Given the description of an element on the screen output the (x, y) to click on. 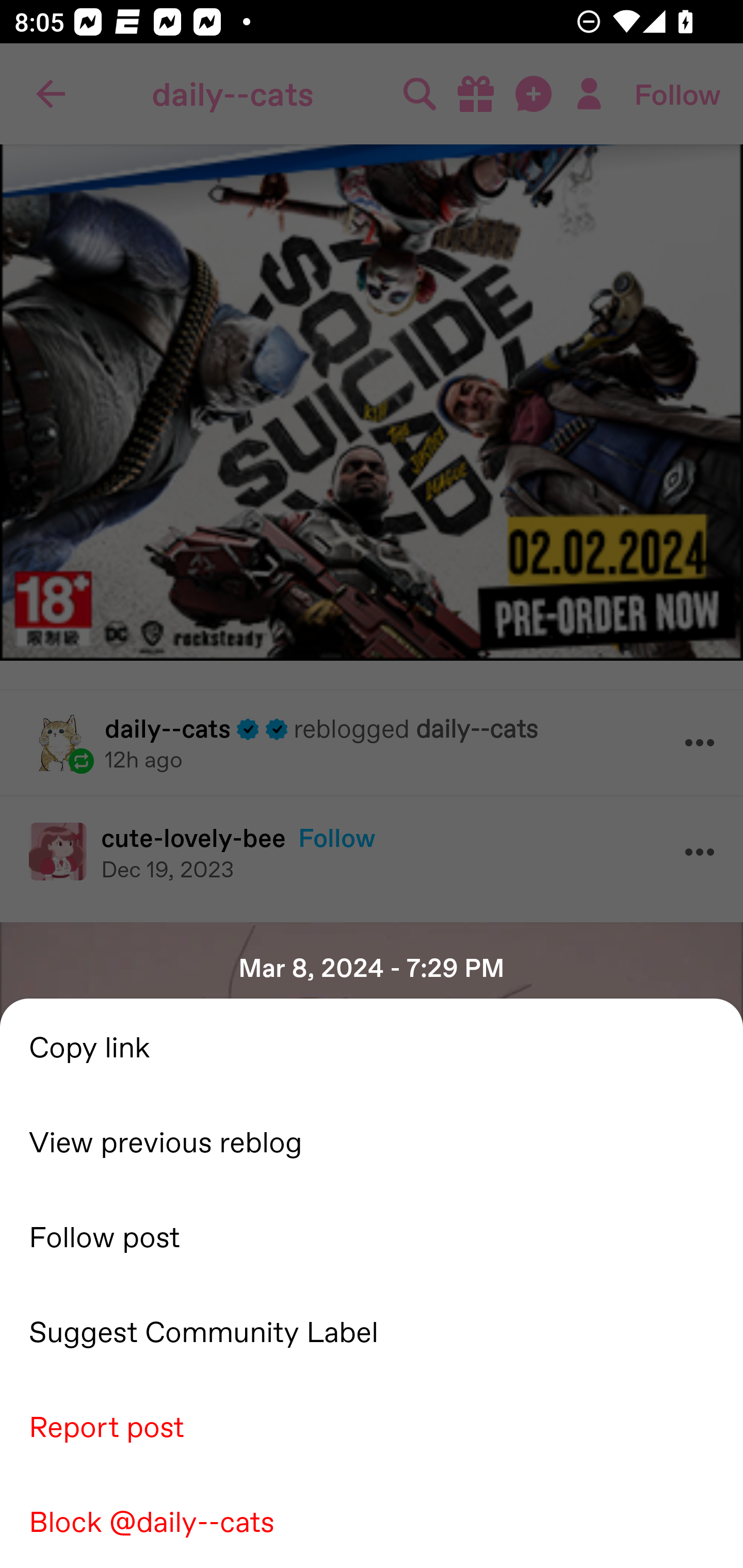
Copy link (371, 1045)
View previous reblog (371, 1140)
Follow post (371, 1235)
Suggest Community Label (371, 1330)
Report post (371, 1425)
Block @daily--cats (371, 1520)
